Given the description of an element on the screen output the (x, y) to click on. 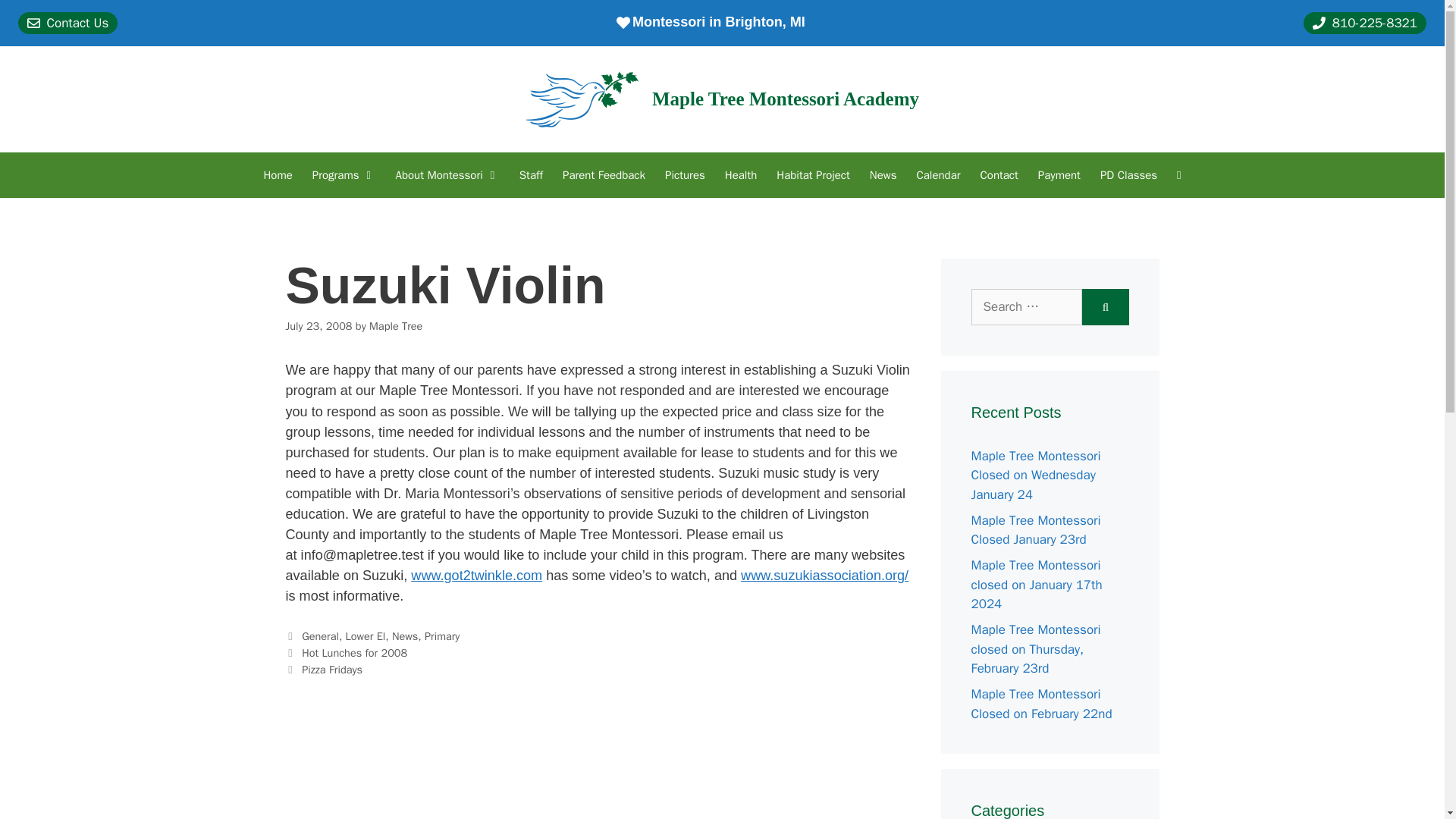
News (883, 175)
Calendar (937, 175)
PD Classes (1128, 175)
View all posts by Maple Tree (395, 325)
Programs (343, 175)
Maple Tree Montessori Academy (785, 98)
810-225-8321 (1364, 23)
General (320, 635)
Payment (1058, 175)
Parent Feedback (604, 175)
Search for: (1026, 307)
Staff (531, 175)
Maple Tree (395, 325)
Contact (999, 175)
About Montessori (446, 175)
